Given the description of an element on the screen output the (x, y) to click on. 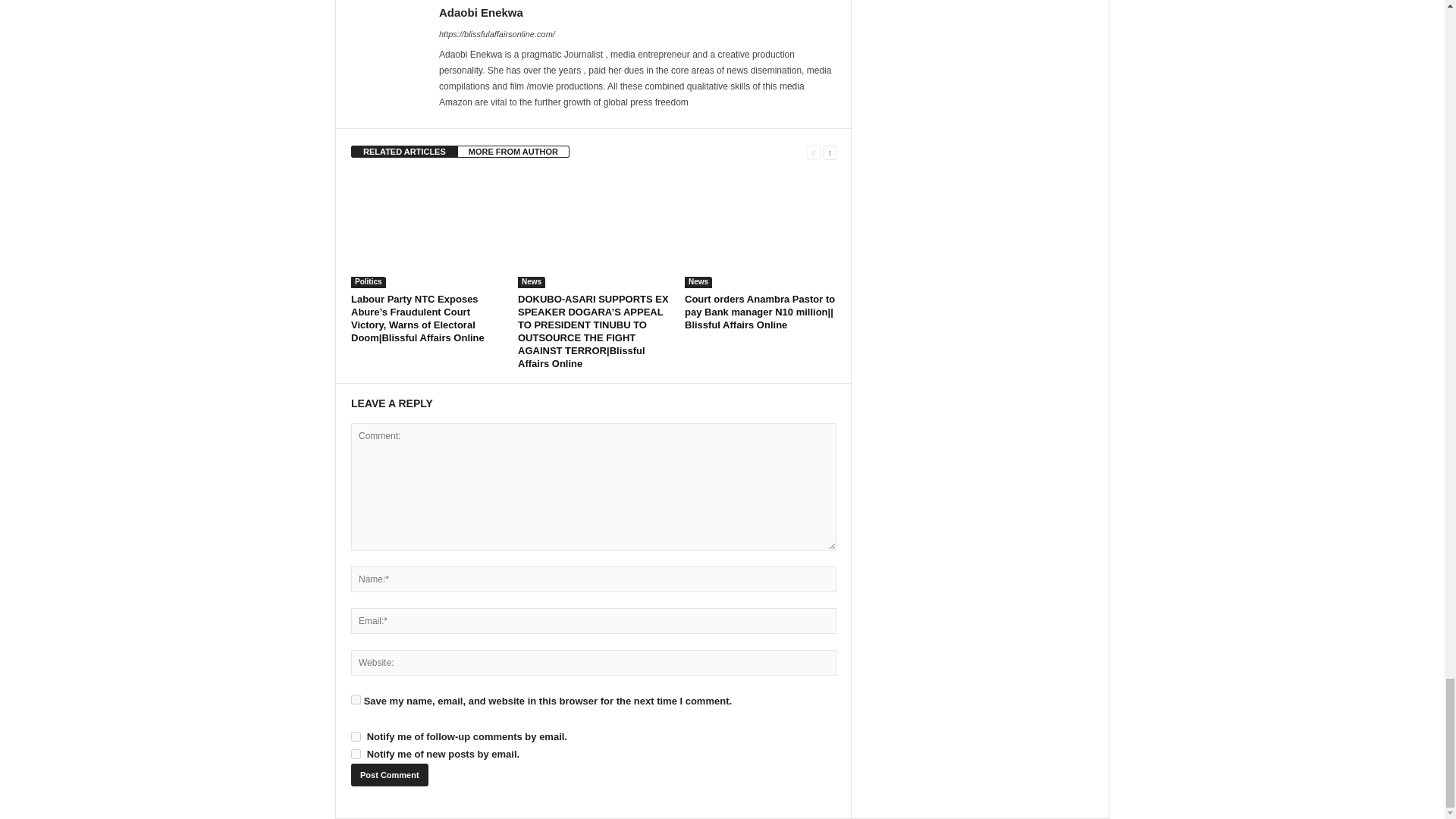
subscribe (355, 737)
yes (355, 699)
Post Comment (389, 774)
subscribe (355, 754)
